Given the description of an element on the screen output the (x, y) to click on. 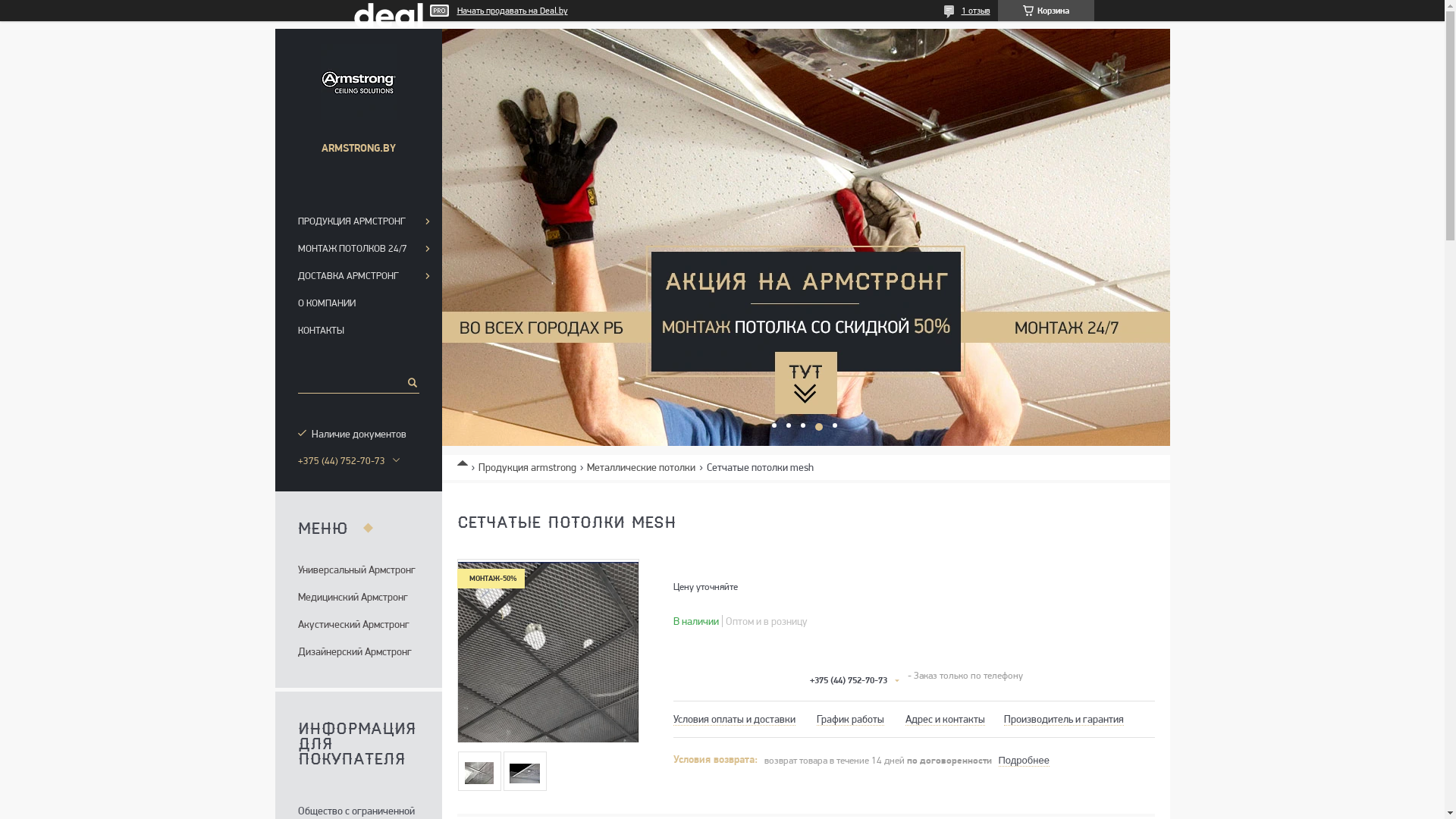
ARMSTRONG.BY Element type: hover (357, 81)
Armstrong.by Element type: hover (466, 459)
